Given the description of an element on the screen output the (x, y) to click on. 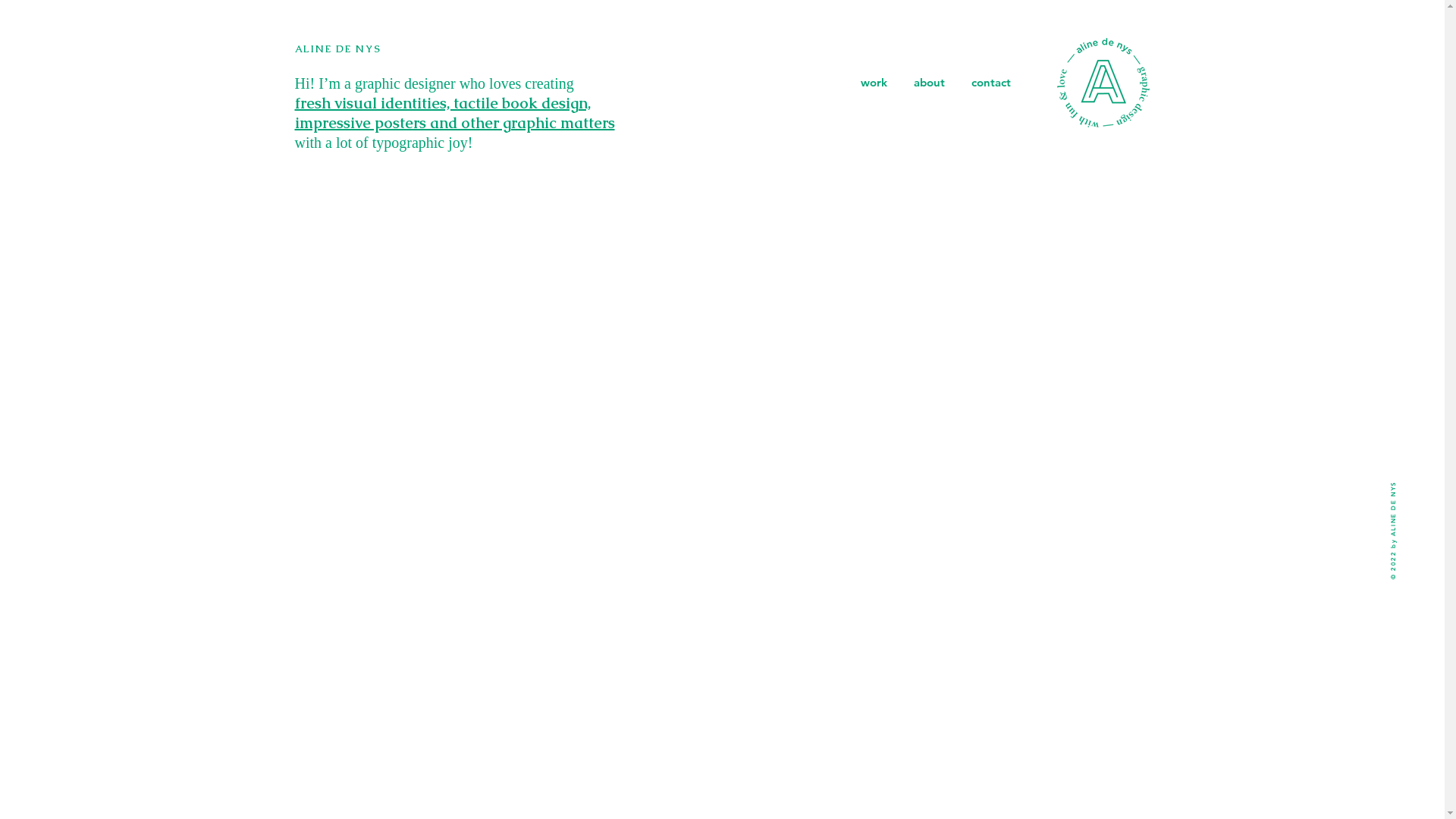
about Element type: text (929, 82)
work Element type: text (873, 82)
contact Element type: text (991, 82)
ALINE DE NYS Element type: text (337, 48)
